Given the description of an element on the screen output the (x, y) to click on. 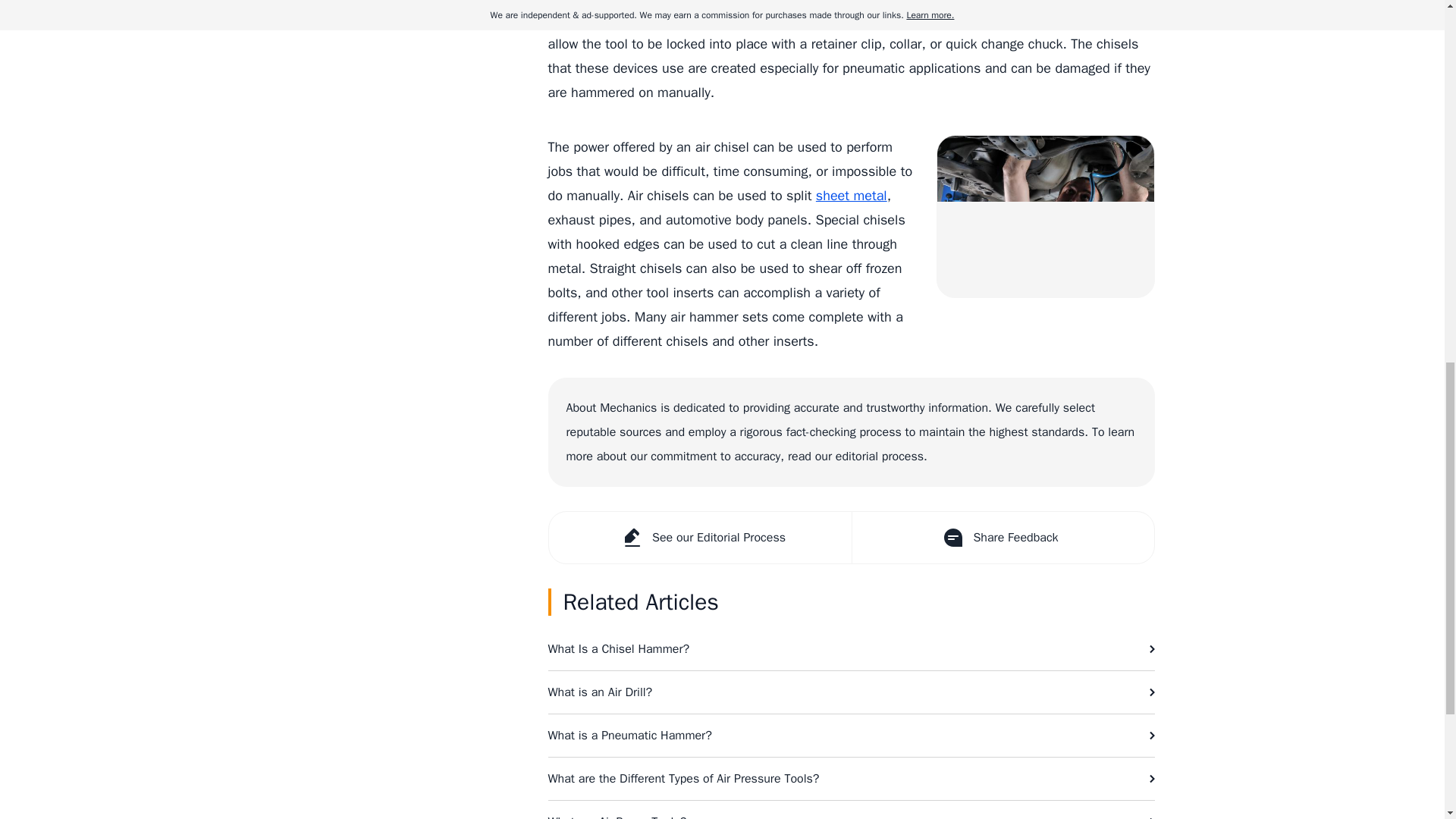
What is a Pneumatic Hammer? (850, 735)
See our Editorial Process (699, 537)
What are Air Power Tools? (850, 809)
Share Feedback (1001, 537)
sheet metal (850, 195)
What is an Air Drill? (850, 691)
What are the Different Types of Air Pressure Tools? (850, 778)
What Is a Chisel Hammer? (850, 649)
